Given the description of an element on the screen output the (x, y) to click on. 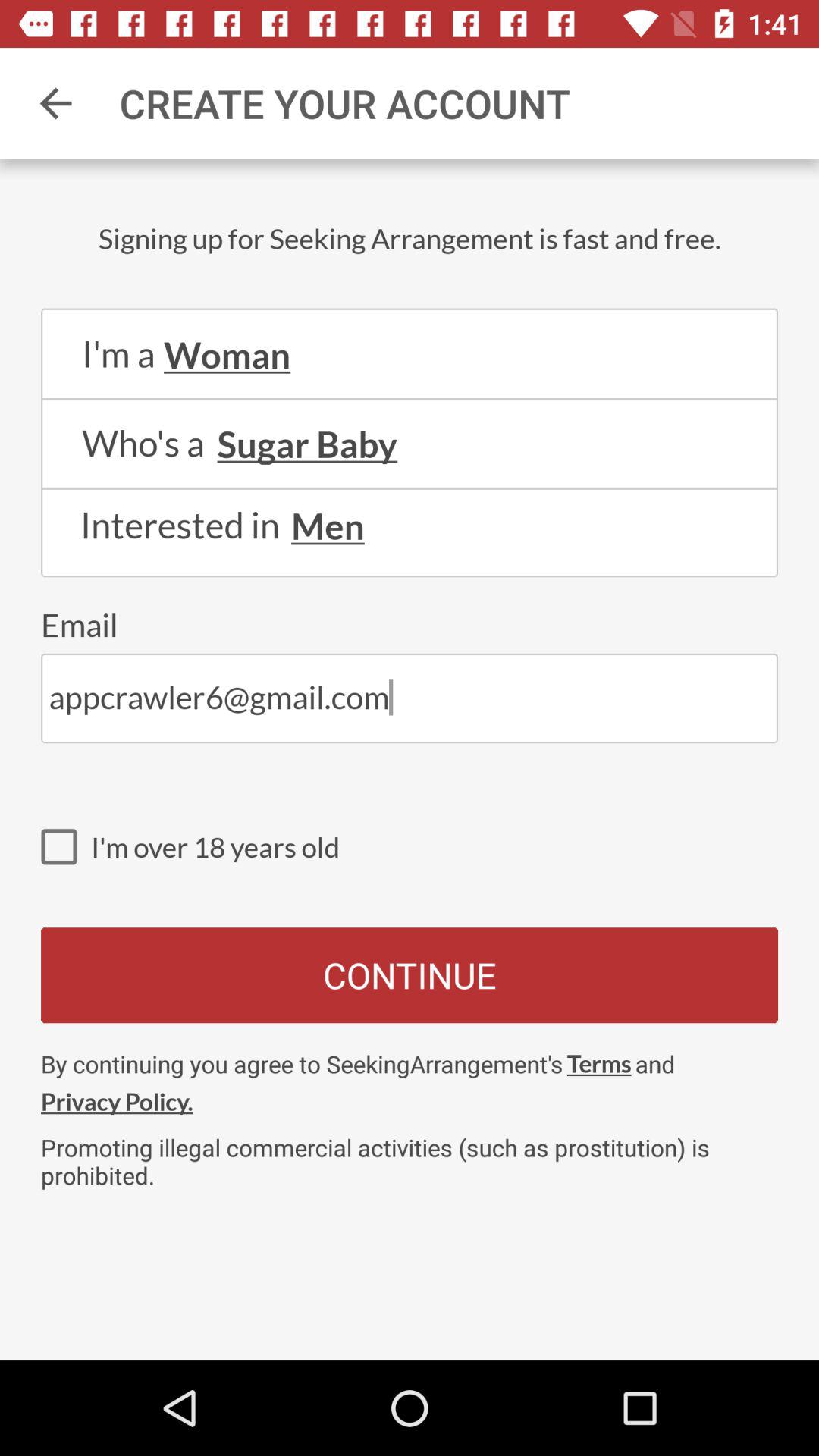
open item above by continuing you item (409, 975)
